Given the description of an element on the screen output the (x, y) to click on. 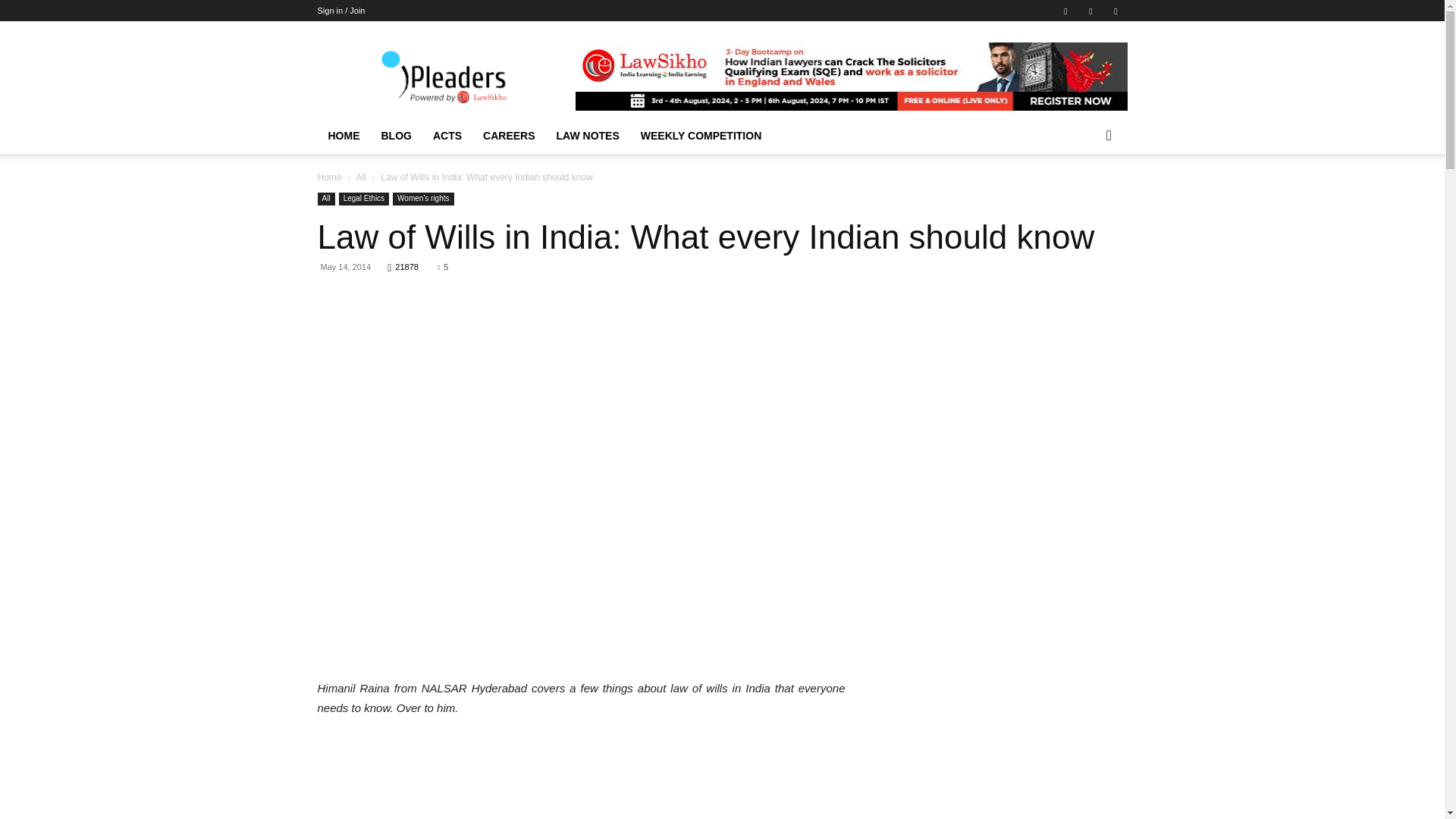
View all posts in All (360, 176)
Facebook (1065, 10)
RSS (1090, 10)
Twitter (1114, 10)
